Given the description of an element on the screen output the (x, y) to click on. 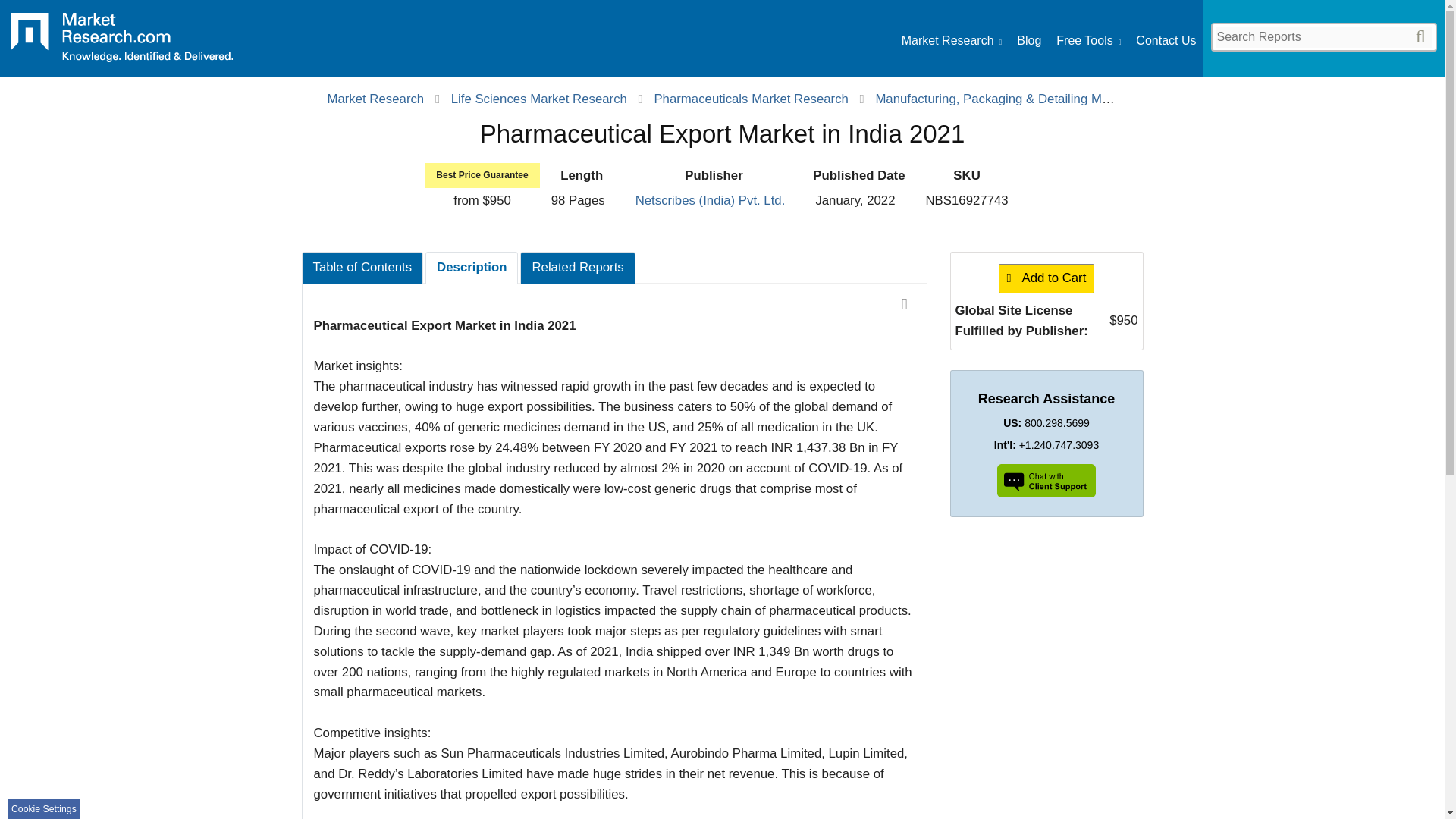
Browse Market Research Industries (951, 40)
Description (471, 267)
Search for specific text within reports (1323, 36)
Free Tools (1089, 40)
Contact Us (1165, 40)
Market Research (951, 40)
Related Reports (576, 267)
Get in touch with MarketResearch.com (1165, 40)
Market Research (374, 98)
Learn more about market research with these free tools (1089, 40)
